Given the description of an element on the screen output the (x, y) to click on. 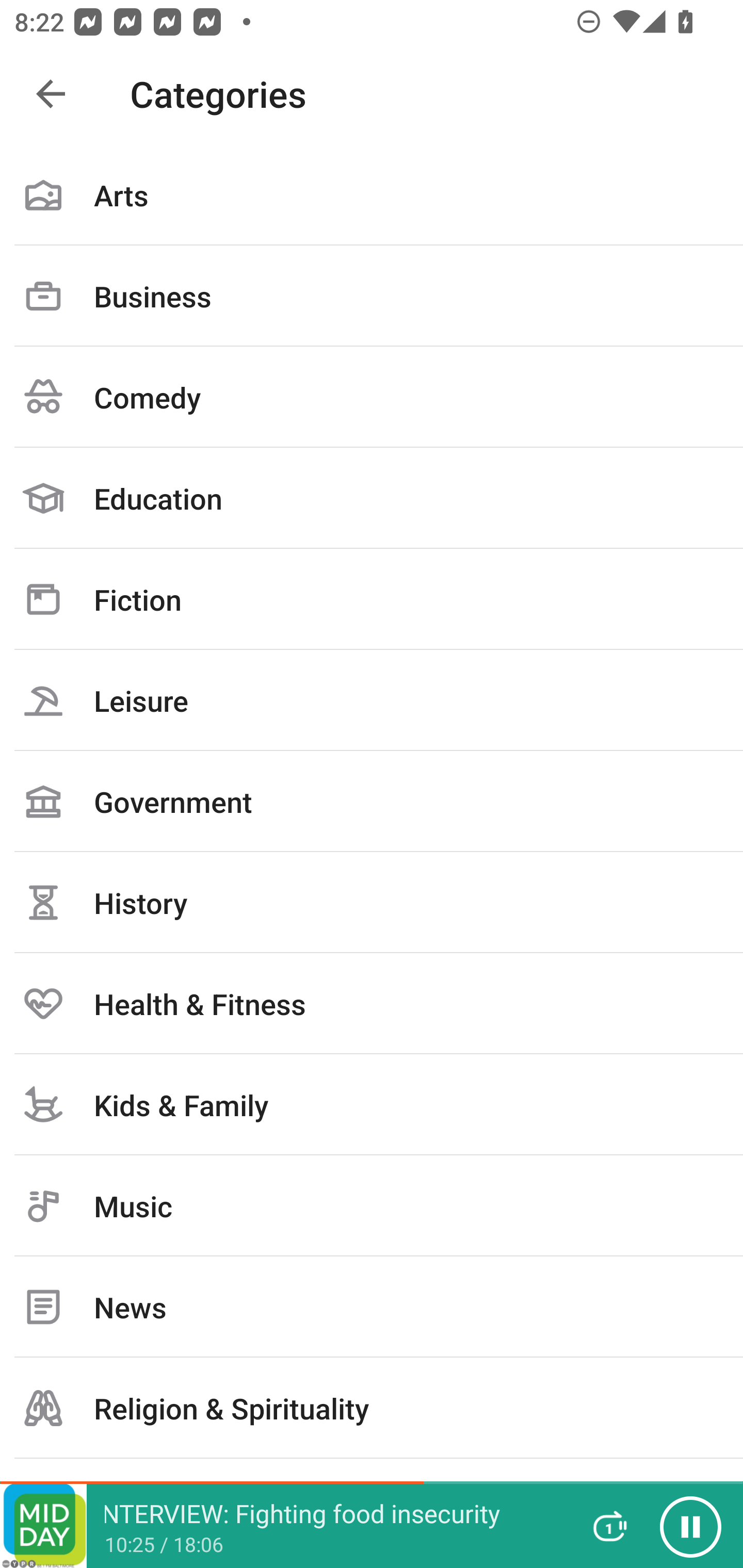
Navigate up (50, 93)
Arts (371, 195)
Business (371, 296)
Comedy (371, 397)
Education (371, 498)
Fiction (371, 598)
Leisure (371, 700)
Government (371, 801)
History (371, 902)
Health & Fitness (371, 1003)
Kids & Family (371, 1104)
Music (371, 1205)
News (371, 1306)
Religion & Spirituality (371, 1407)
Pause (690, 1526)
